Given the description of an element on the screen output the (x, y) to click on. 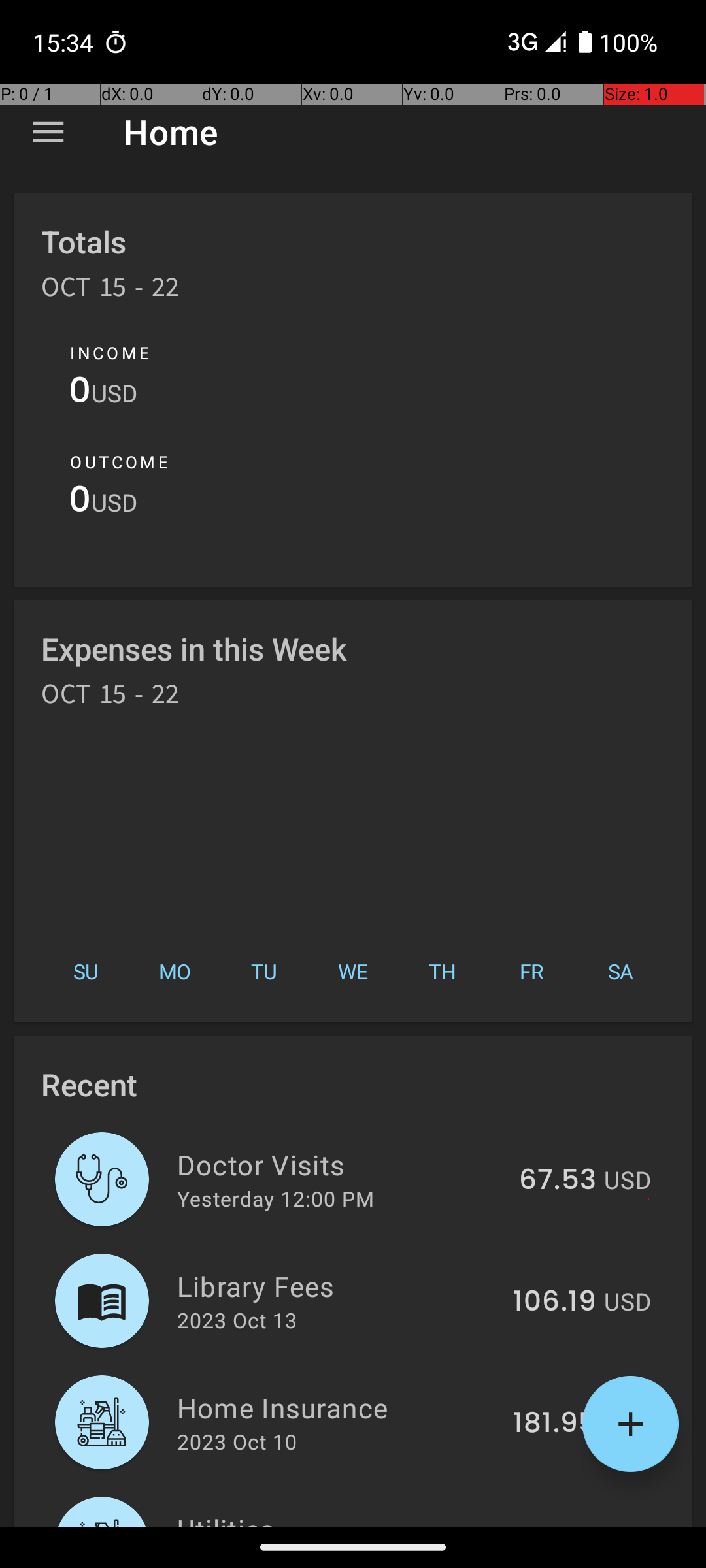
Yesterday 12:00 PM Element type: android.widget.TextView (275, 1198)
67.53 Element type: android.widget.TextView (557, 1180)
106.19 Element type: android.widget.TextView (554, 1301)
Home Insurance Element type: android.widget.TextView (337, 1407)
181.95 Element type: android.widget.TextView (554, 1423)
Utilities Element type: android.widget.TextView (332, 1518)
274.34 Element type: android.widget.TextView (549, 1524)
